Given the description of an element on the screen output the (x, y) to click on. 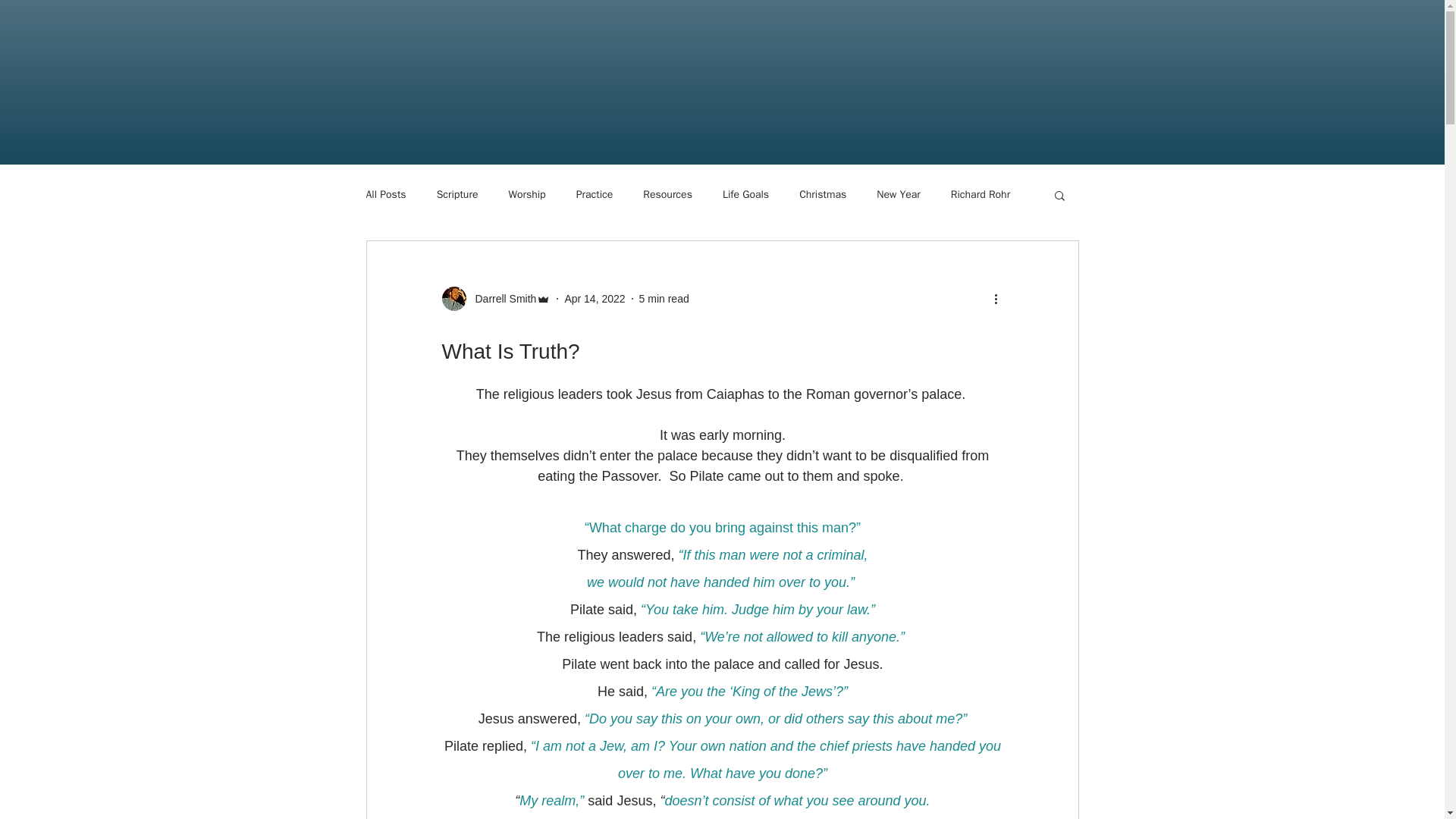
Scripture (457, 194)
Darrell Smith (495, 298)
Resources (668, 194)
All Posts (385, 194)
Darrell Smith (500, 299)
Life Goals (745, 194)
New Year (898, 194)
5 min read (663, 298)
Worship (526, 194)
Richard Rohr (980, 194)
